Given the description of an element on the screen output the (x, y) to click on. 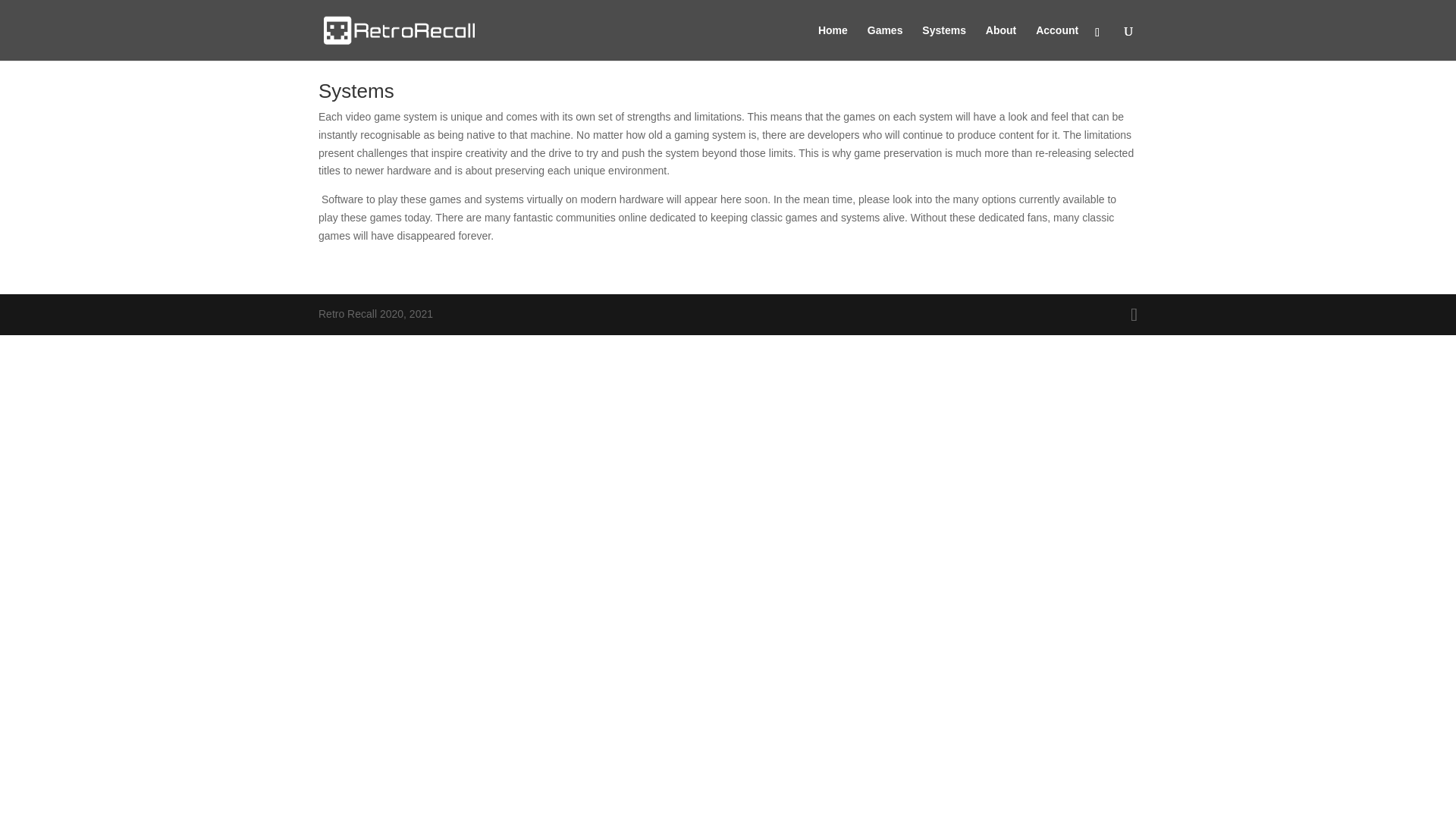
Systems (943, 42)
Games (884, 42)
Account (1056, 42)
